Given the description of an element on the screen output the (x, y) to click on. 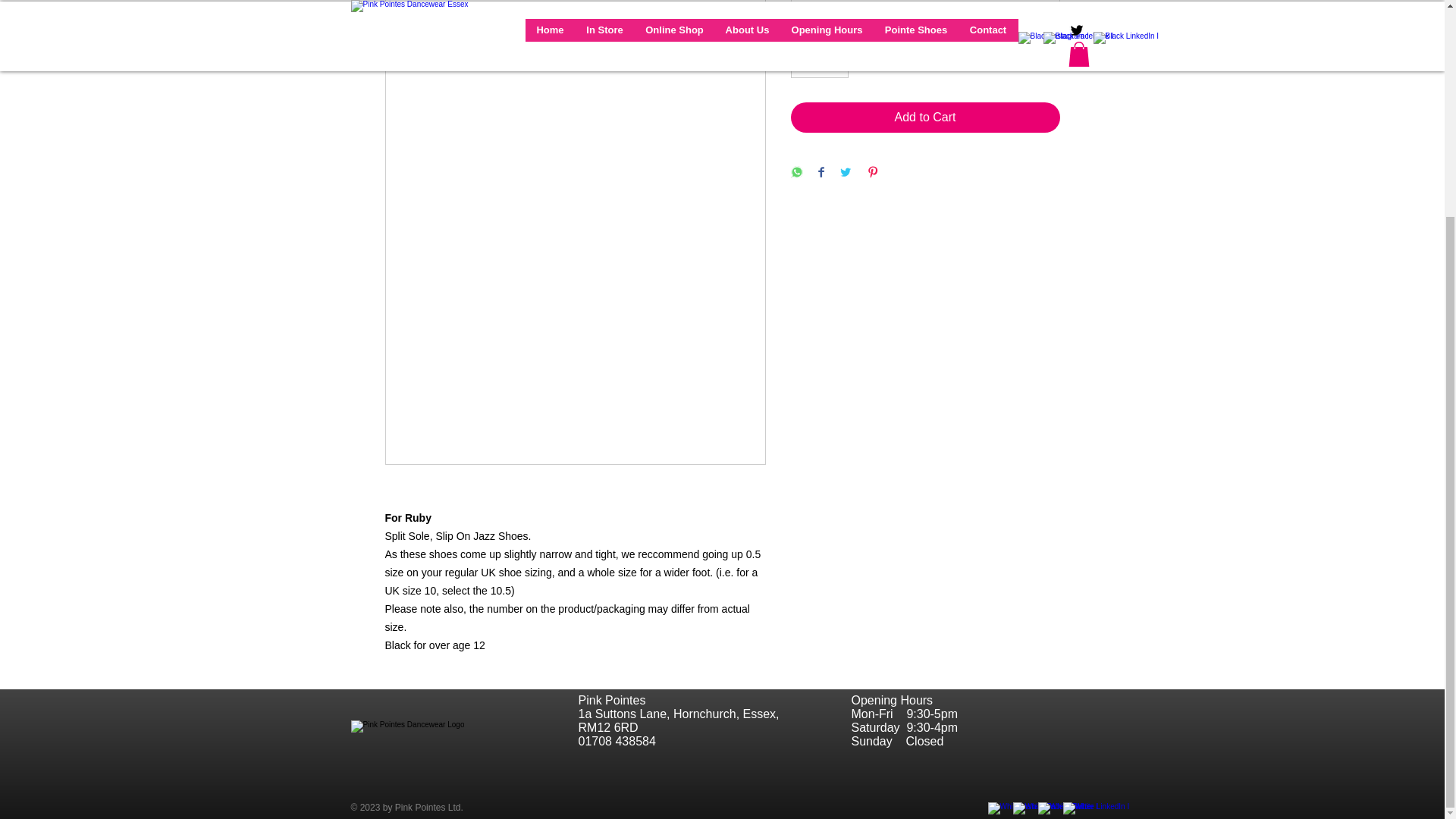
Facebook Like (445, 708)
1 (818, 61)
Select (924, 5)
Add to Cart (924, 117)
